Given the description of an element on the screen output the (x, y) to click on. 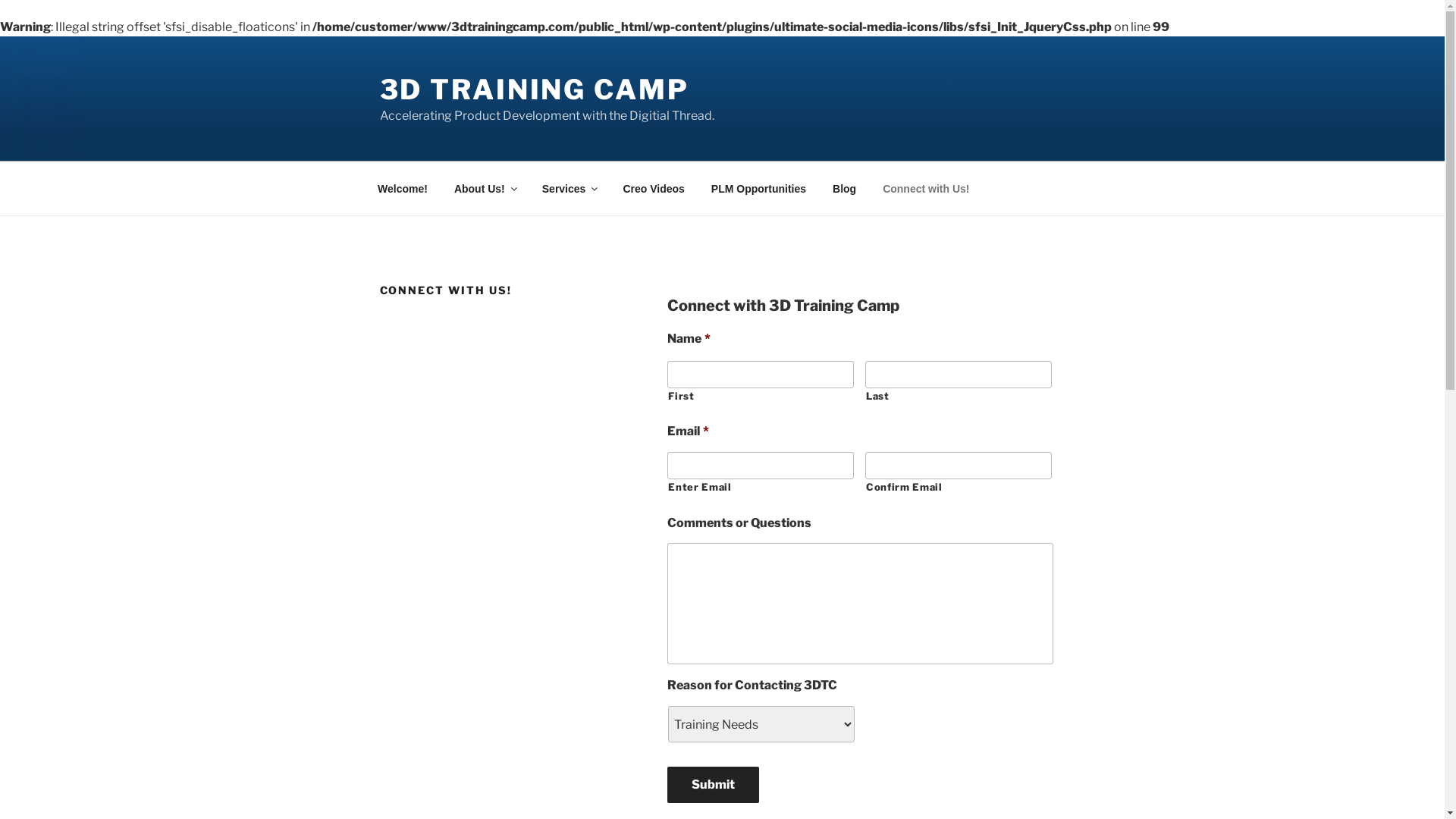
Connect with Us! Element type: text (925, 188)
PLM Opportunities Element type: text (758, 188)
Services Element type: text (568, 188)
Submit Element type: text (713, 784)
3D TRAINING CAMP Element type: text (533, 89)
Blog Element type: text (844, 188)
Creo Videos Element type: text (653, 188)
About Us! Element type: text (484, 188)
Welcome! Element type: text (402, 188)
